Given the description of an element on the screen output the (x, y) to click on. 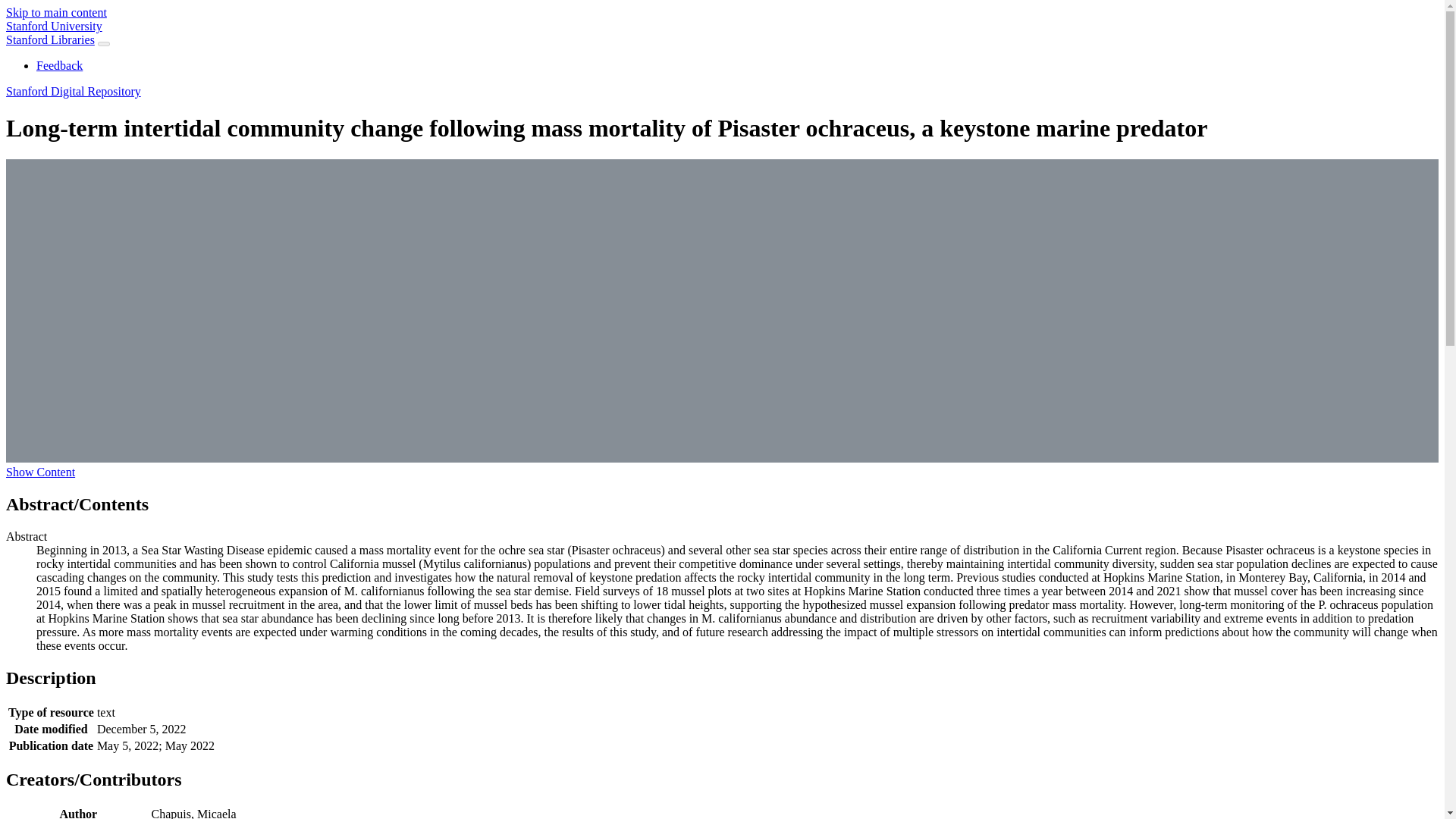
Stanford Libraries (49, 39)
Stanford University (53, 25)
Show Content (40, 472)
Stanford Digital Repository (73, 91)
Skip to main content (55, 11)
Feedback (59, 65)
